Given the description of an element on the screen output the (x, y) to click on. 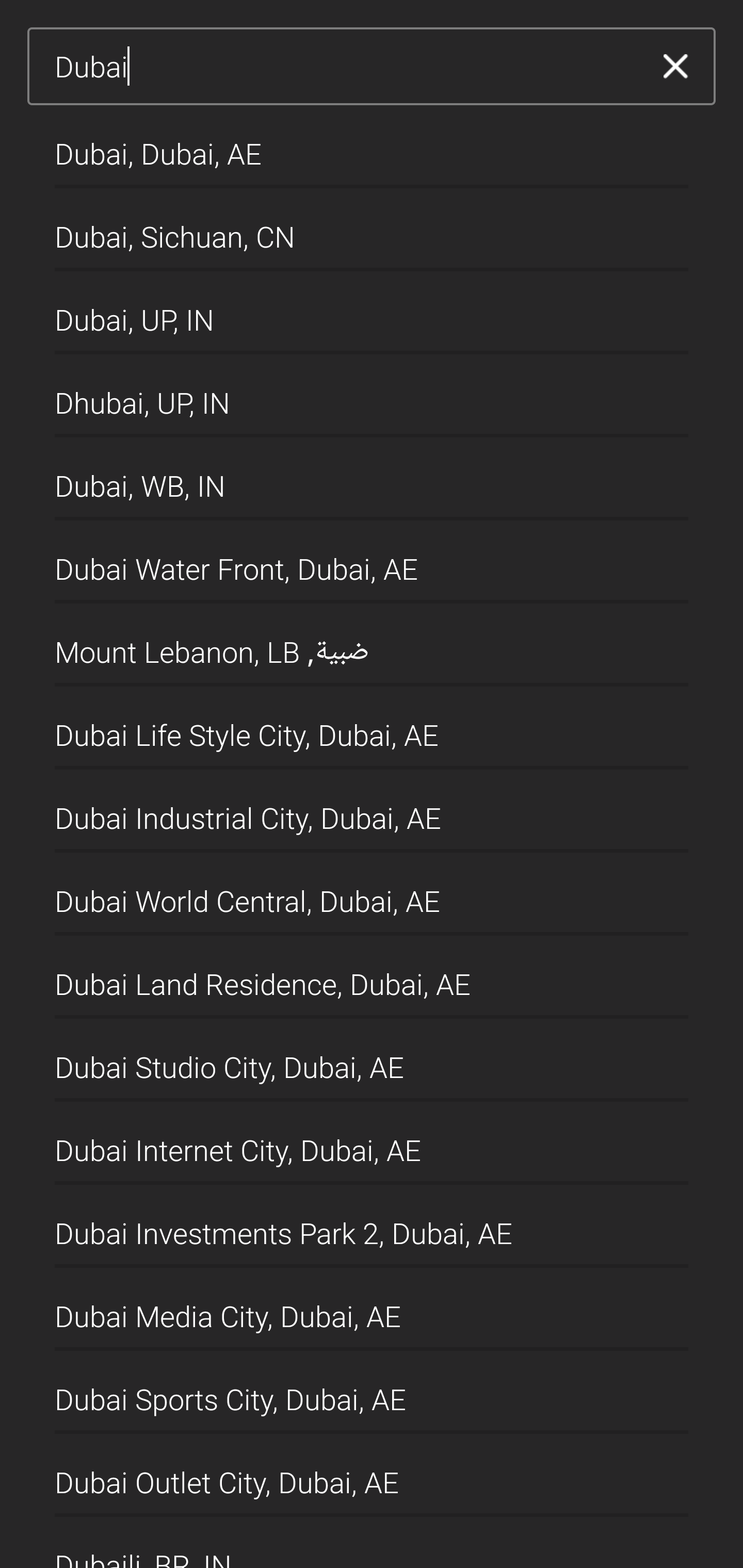
Dubai (345, 66)
Dubai, Dubai, AE (371, 146)
Dubai, Sichuan, CN (371, 229)
Dubai, UP, IN (371, 312)
Dhubai, UP, IN (371, 395)
Dubai, WB, IN (371, 478)
Dubai Water Front, Dubai, AE (371, 561)
ضبية, Mount Lebanon, LB (371, 644)
Dubai Life Style City, Dubai, AE (371, 727)
Dubai Industrial City, Dubai, AE (371, 810)
Dubai World Central, Dubai, AE (371, 894)
Dubai Land Residence, Dubai, AE (371, 977)
Dubai Studio City, Dubai, AE (371, 1060)
Dubai Internet City, Dubai, AE (371, 1143)
Dubai Investments Park 2, Dubai, AE (371, 1226)
Dubai Media City, Dubai, AE (371, 1309)
Dubai Sports City, Dubai, AE (371, 1392)
Dubai Outlet City, Dubai, AE (371, 1474)
Dubaili, BR, IN (371, 1542)
